Given the description of an element on the screen output the (x, y) to click on. 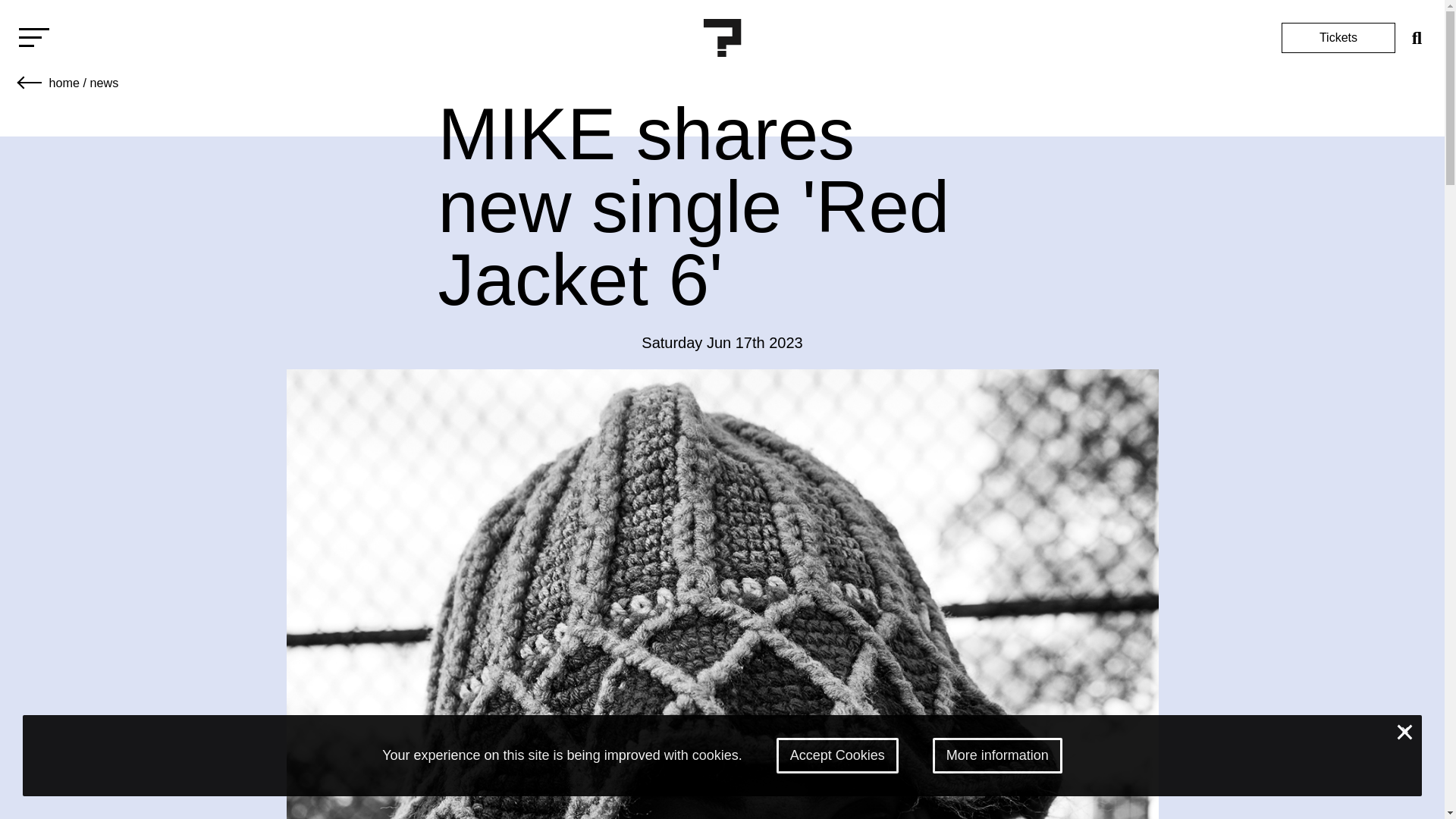
news (102, 82)
Tickets (1337, 37)
home (64, 82)
